Given the description of an element on the screen output the (x, y) to click on. 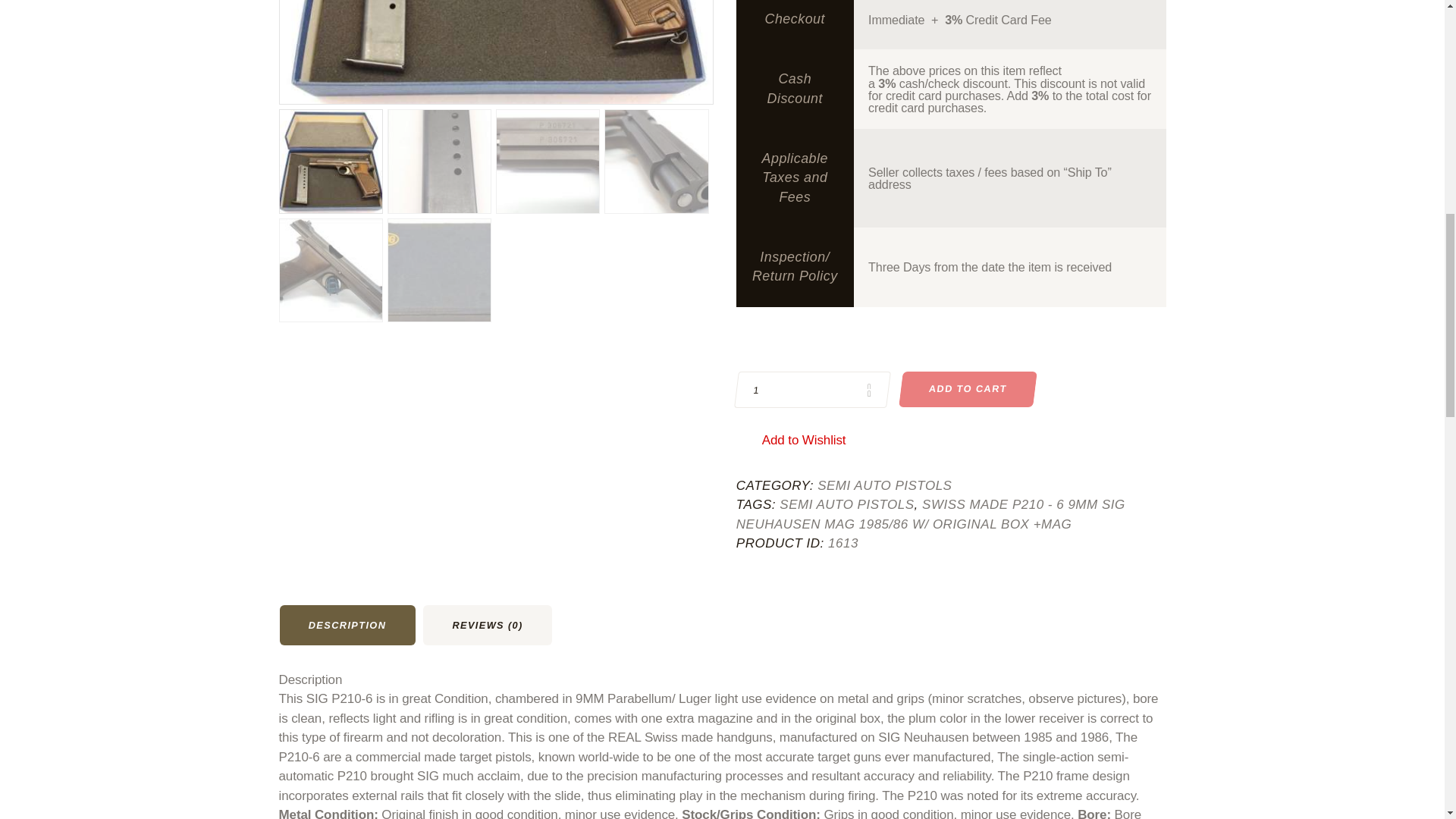
DESCRIPTION (346, 625)
SEMI AUTO PISTOLS (846, 504)
1 (809, 389)
ADD TO CART (966, 389)
Add to Wishlist (804, 439)
SEMI AUTO PISTOLS (884, 485)
pix419594814.jpg (495, 52)
